Given the description of an element on the screen output the (x, y) to click on. 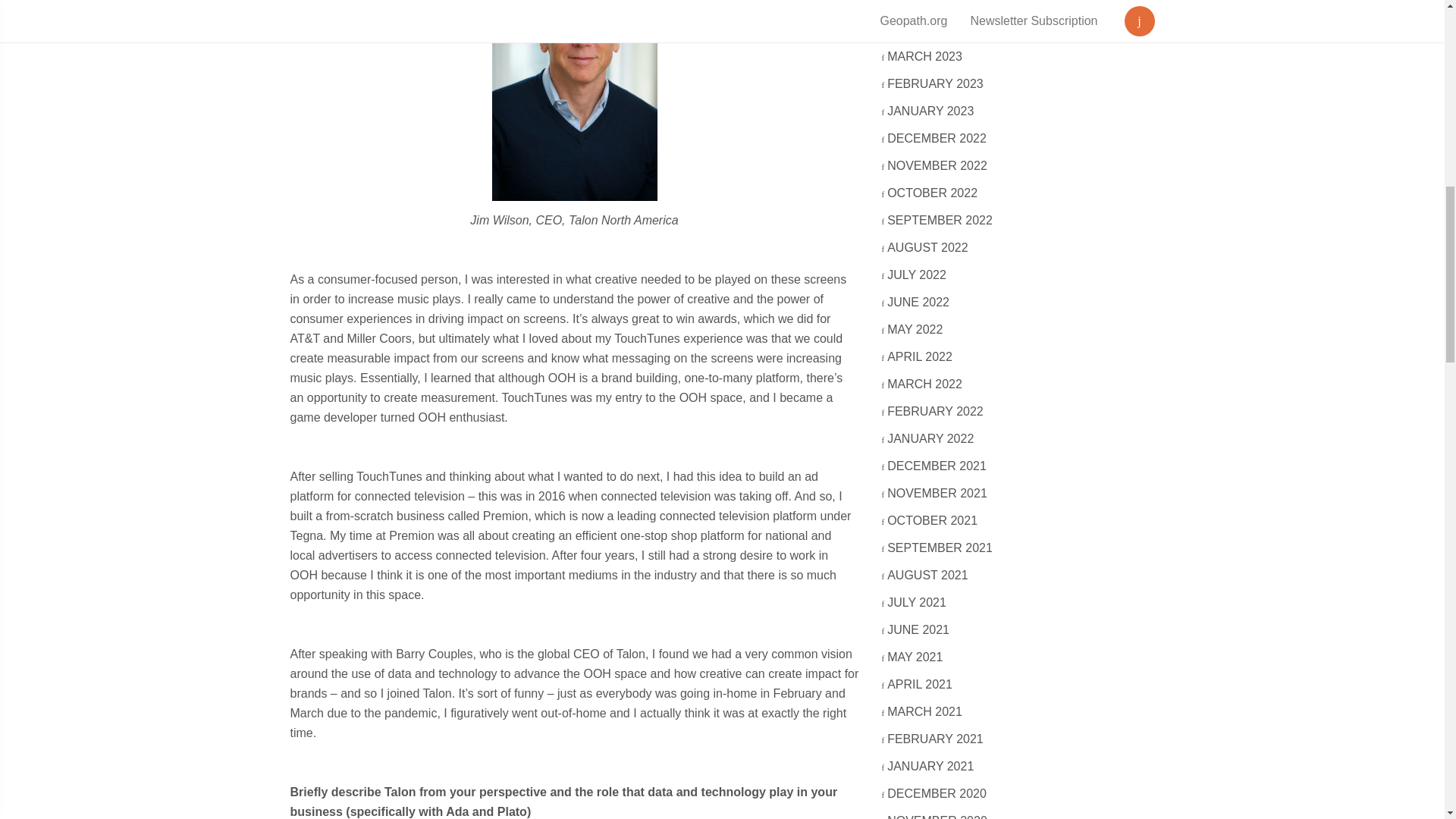
DECEMBER 2022 (937, 137)
JANUARY 2023 (930, 110)
APRIL 2023 (920, 29)
FEBRUARY 2023 (935, 83)
OCTOBER 2022 (932, 192)
JULY 2022 (917, 274)
AUGUST 2022 (927, 246)
NOVEMBER 2022 (938, 164)
MARCH 2023 (924, 56)
SEPTEMBER 2022 (940, 219)
